Given the description of an element on the screen output the (x, y) to click on. 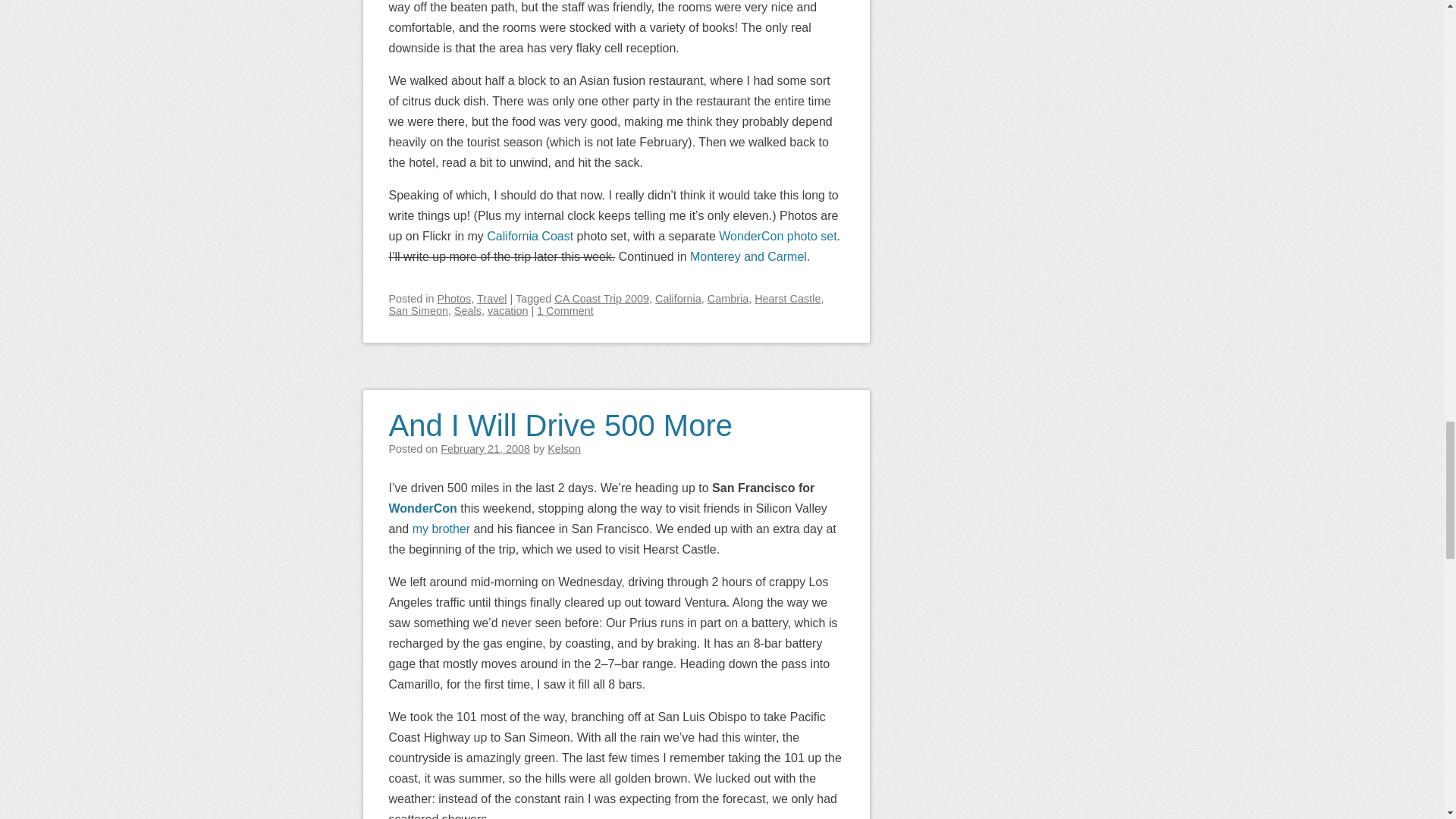
View all posts by Kelson (563, 449)
11:25 PM (485, 449)
Permalink to And I Will Drive 500 More (560, 415)
